Given the description of an element on the screen output the (x, y) to click on. 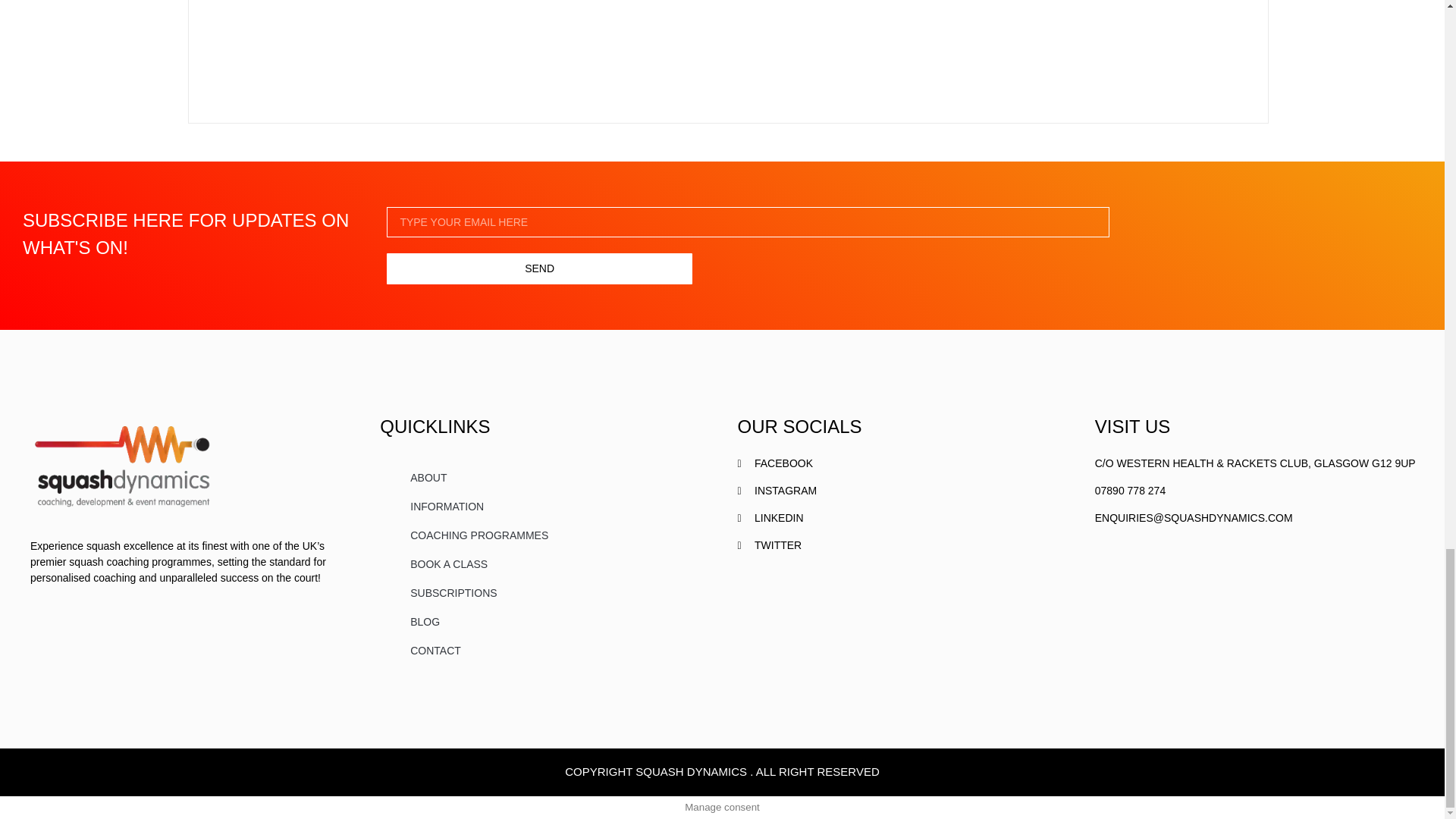
SCOTSTOUN PARENT (379, 22)
FACEBOOK (900, 463)
INSTAGRAM (900, 490)
BOOK A CLASS (543, 563)
TWITTER (900, 545)
ABOUT (543, 477)
SEND (539, 268)
BLOG (543, 621)
COACHING PROGRAMMES (543, 534)
CONTACT (543, 650)
